Given the description of an element on the screen output the (x, y) to click on. 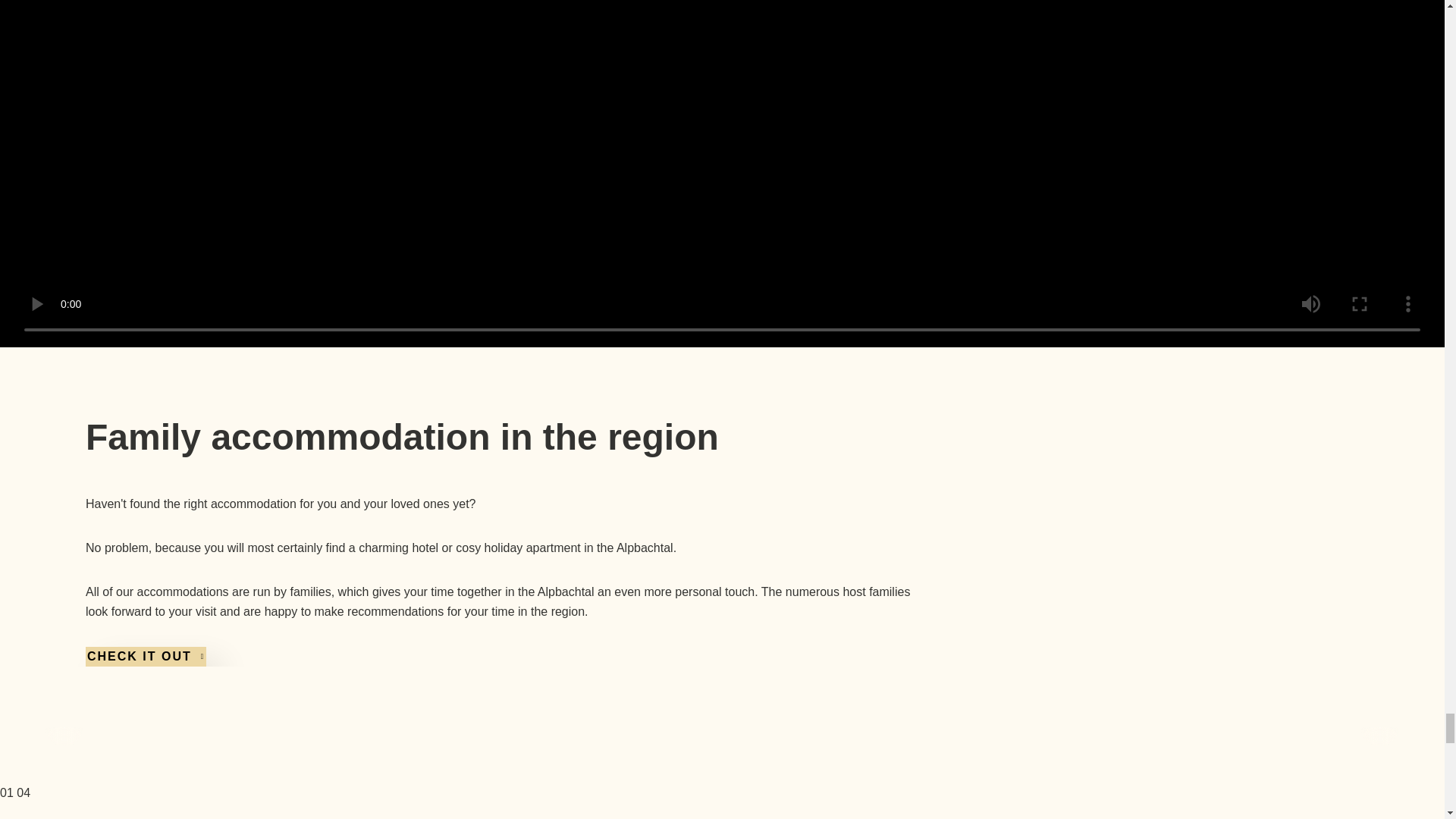
prev (64, 726)
next (1379, 726)
CHECK IT OUT (144, 656)
01 (6, 792)
